Given the description of an element on the screen output the (x, y) to click on. 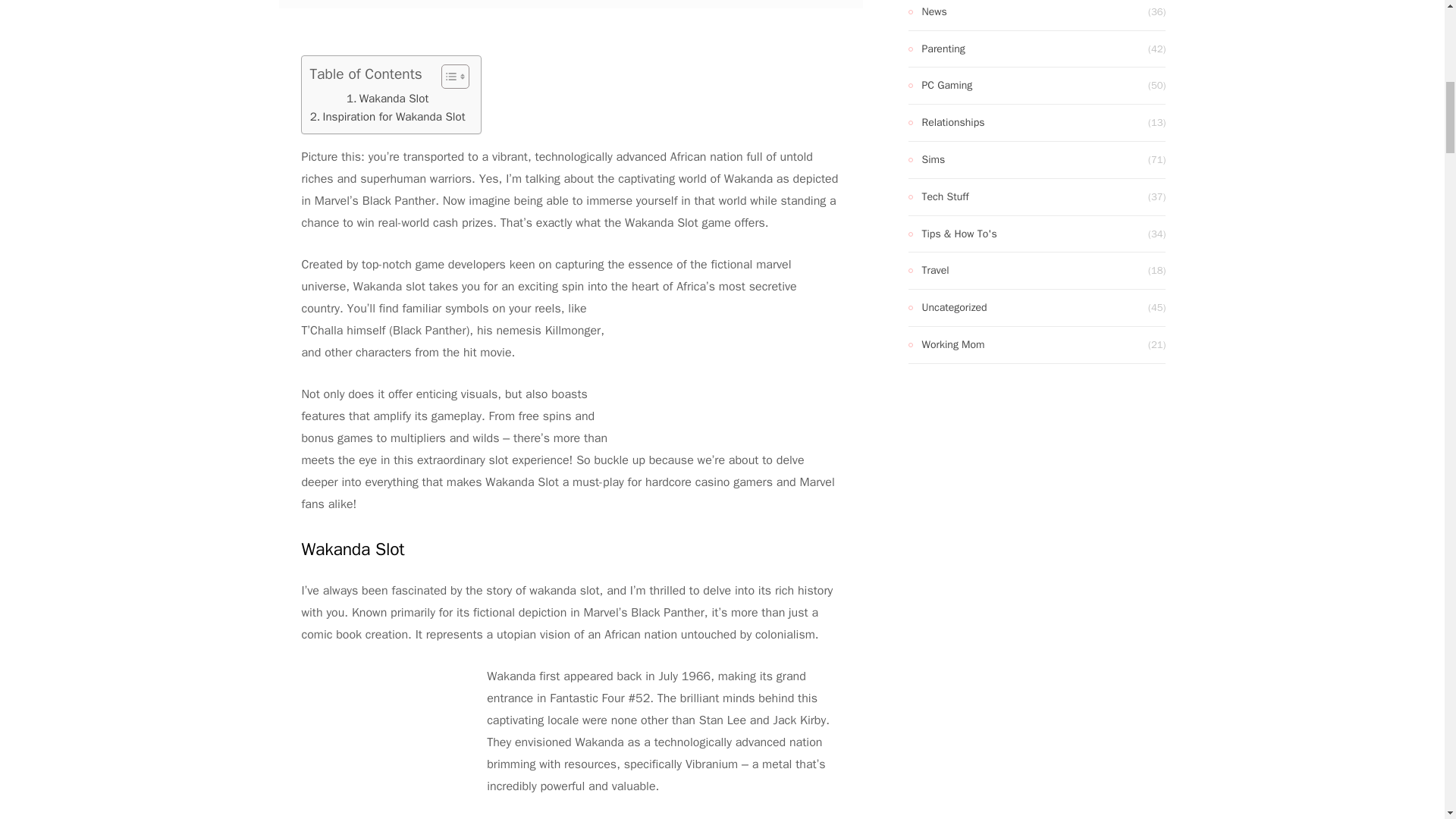
Inspiration for Wakanda Slot (387, 116)
Inspiration for Wakanda Slot (387, 116)
Wakanda Slot (387, 98)
Wakanda Slot (387, 98)
